Given the description of an element on the screen output the (x, y) to click on. 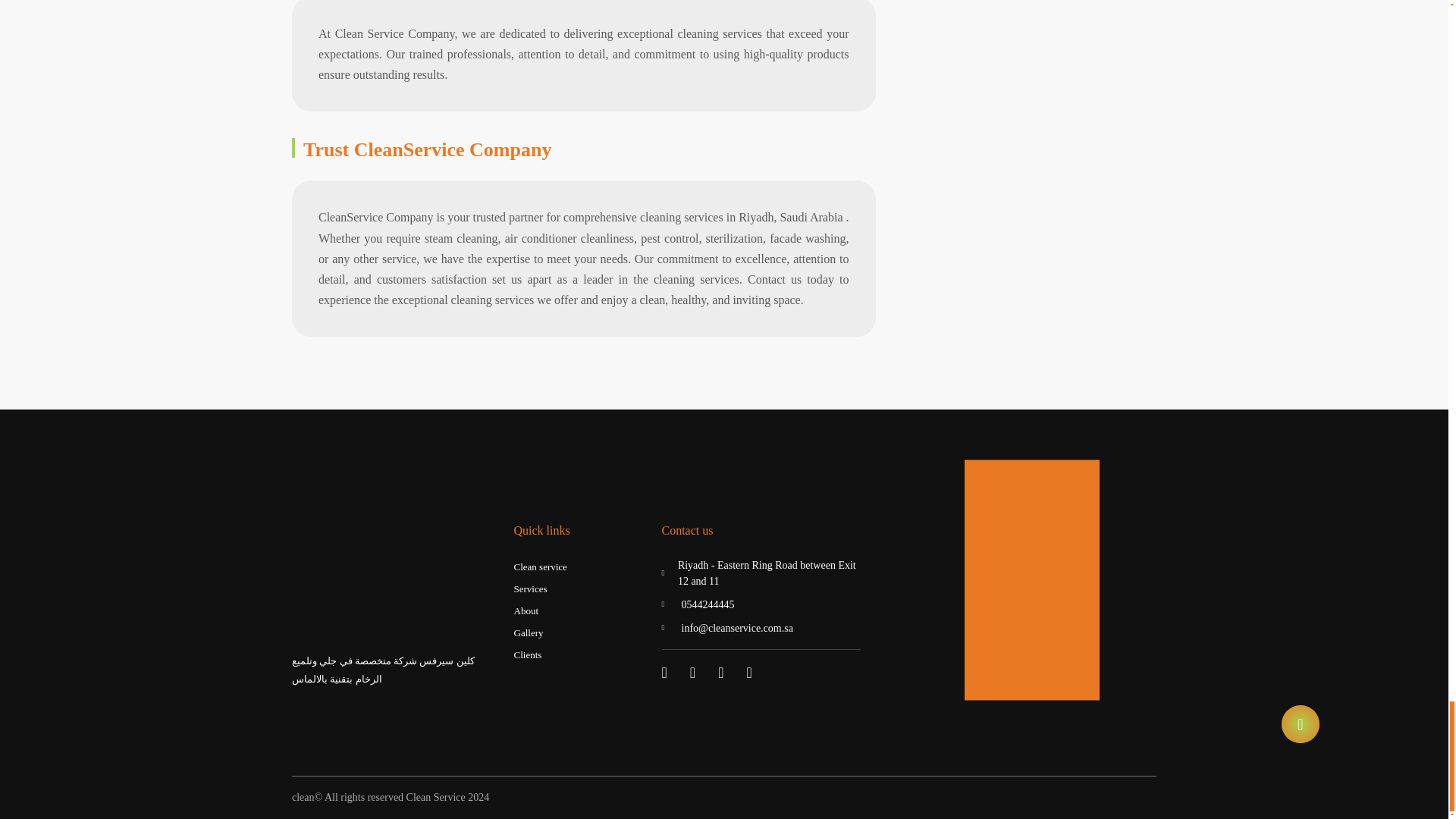
Gallery (528, 632)
About (525, 611)
Clients (527, 654)
Riyadh - Eastern Ring Road between Exit 12 and 11 (760, 572)
Services (530, 589)
0544244445 (760, 604)
Clean service (540, 566)
